Given the description of an element on the screen output the (x, y) to click on. 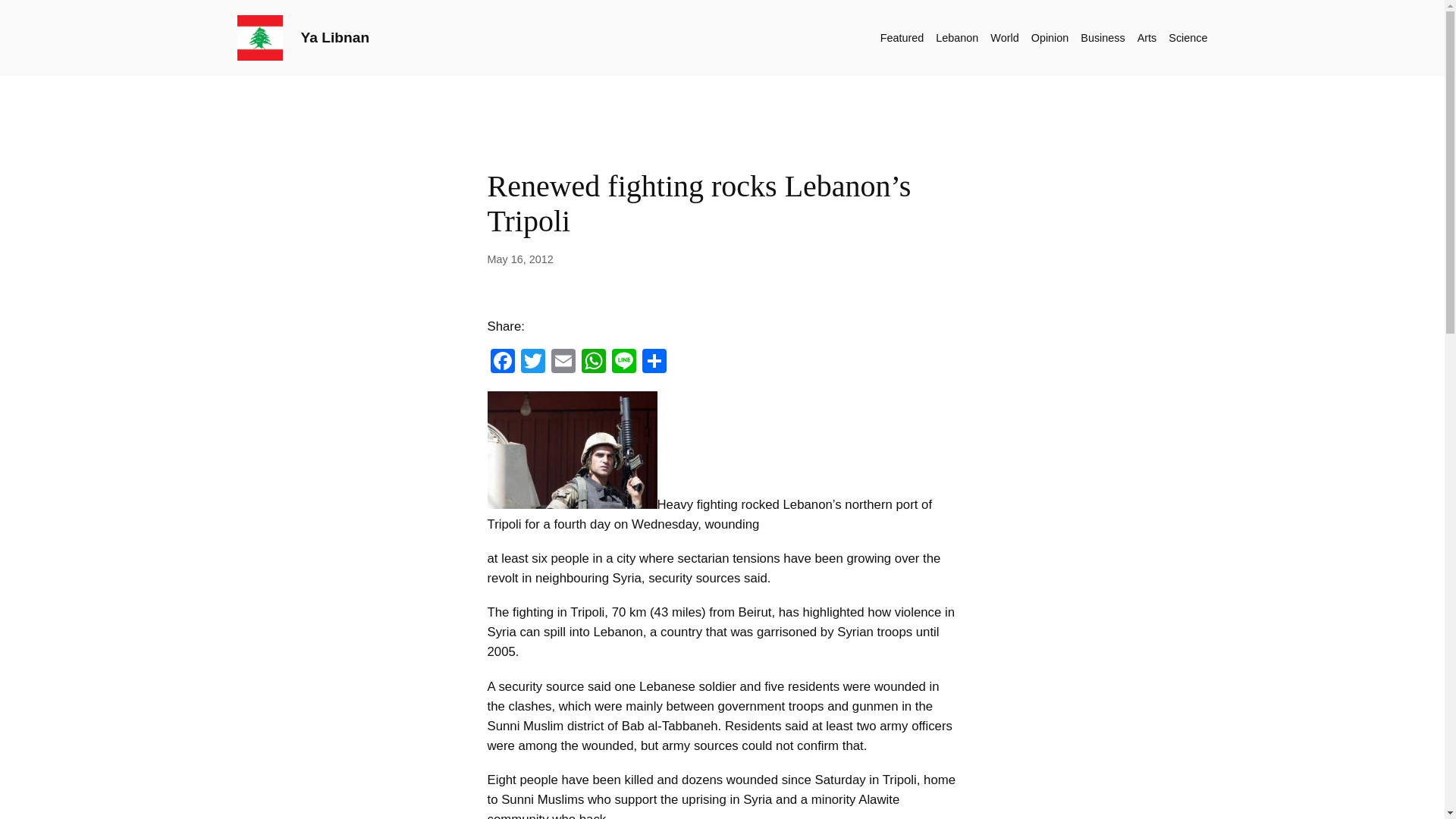
Featured (902, 37)
Business (1102, 37)
Line (623, 362)
World (1003, 37)
WhatsApp (593, 362)
Arts (1147, 37)
Line (623, 362)
Ya Libnan (334, 37)
Facebook (501, 362)
Twitter (531, 362)
Facebook (501, 362)
May 16, 2012 (519, 259)
Email (562, 362)
Opinion (1049, 37)
Twitter (531, 362)
